Given the description of an element on the screen output the (x, y) to click on. 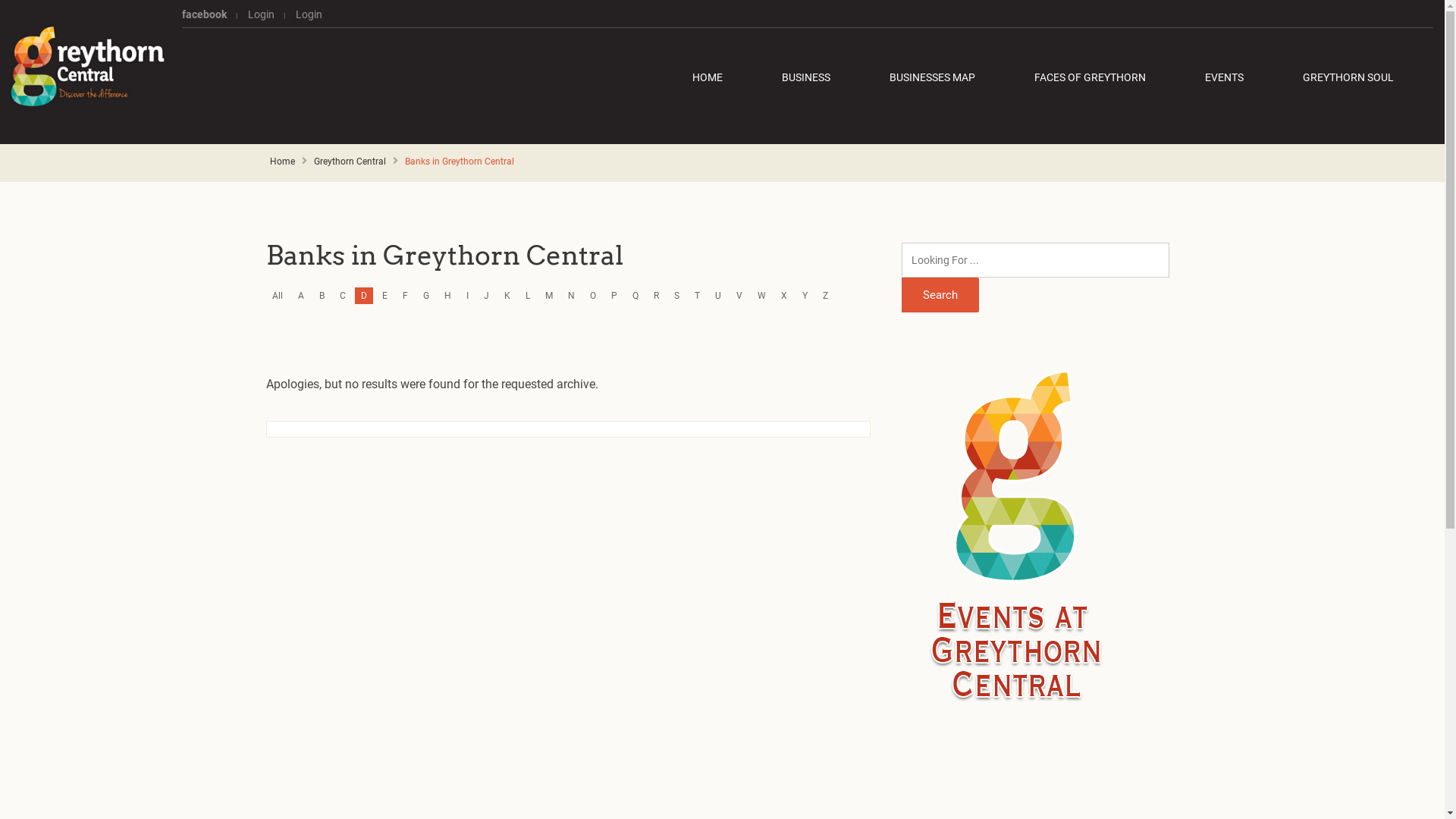
P Element type: text (614, 295)
GREYTHORN SOUL Element type: text (1348, 76)
L Element type: text (527, 295)
V Element type: text (739, 295)
U Element type: text (718, 295)
G Element type: text (426, 295)
M Element type: text (548, 295)
R Element type: text (656, 295)
EVENTS Element type: text (1224, 76)
O Element type: text (592, 295)
H Element type: text (447, 295)
X Element type: text (784, 295)
Q Element type: text (635, 295)
Search Element type: text (940, 294)
C Element type: text (342, 295)
A Element type: text (300, 295)
K Element type: text (507, 295)
FACES OF GREYTHORN Element type: text (1089, 76)
N Element type: text (570, 295)
B Element type: text (321, 295)
D Element type: text (363, 295)
S Element type: text (676, 295)
Login Element type: text (260, 14)
Greythorn Central Element type: hover (85, 65)
Home Element type: text (281, 161)
facebook Element type: text (208, 14)
HOME Element type: text (716, 76)
F Element type: text (405, 295)
Y Element type: text (804, 295)
All Element type: text (277, 295)
Z Element type: text (825, 295)
T Element type: text (697, 295)
E Element type: text (384, 295)
Greythorn Central Element type: text (349, 161)
Login Element type: text (304, 14)
BUSINESSES MAP Element type: text (932, 76)
BUSINESS Element type: text (805, 76)
I Element type: text (467, 295)
W Element type: text (761, 295)
J Element type: text (486, 295)
